Given the description of an element on the screen output the (x, y) to click on. 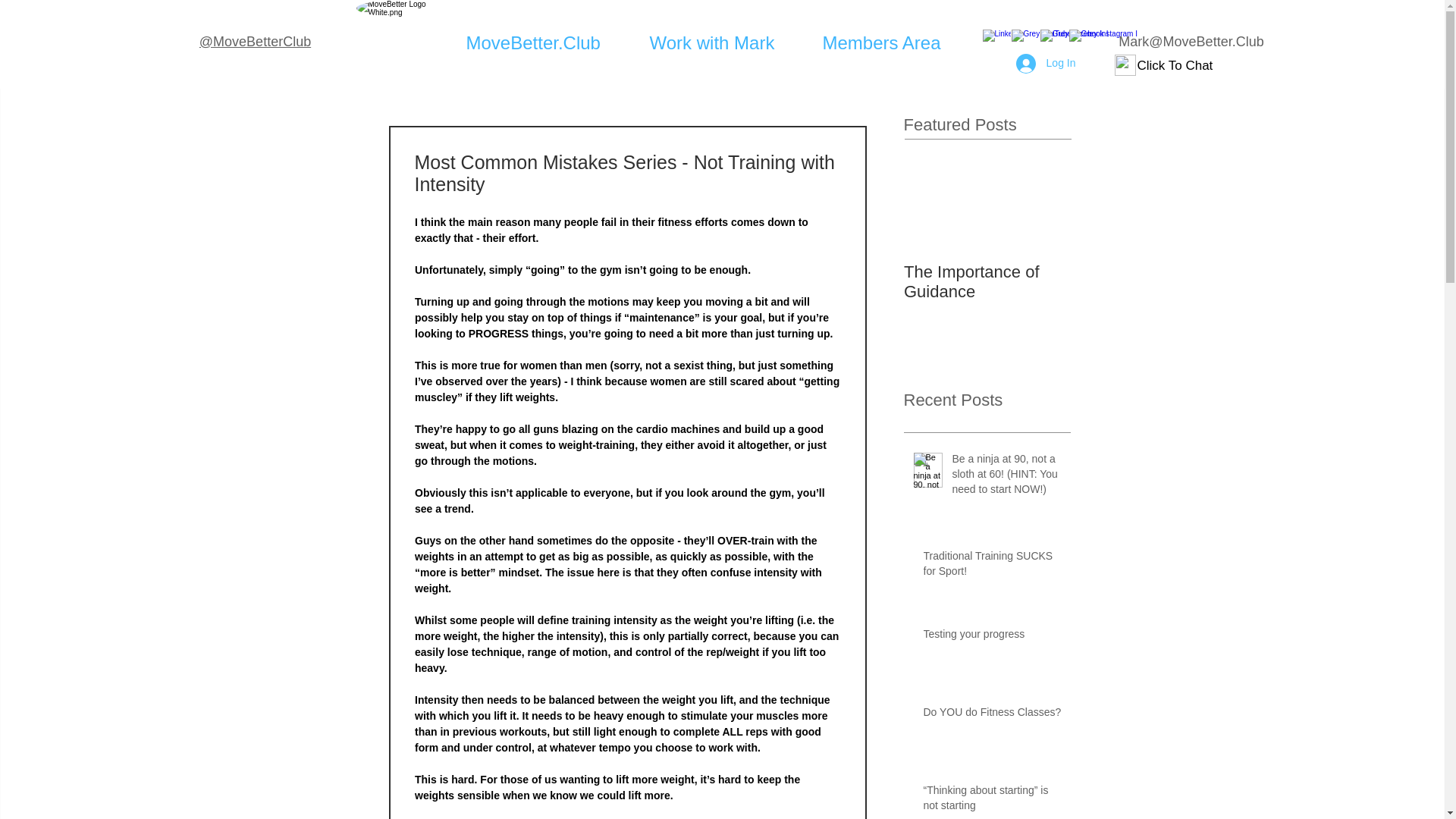
Log In (1046, 63)
Members Area (893, 42)
The Importance of Guidance (987, 282)
MoveBetter.Club (546, 42)
Work with Mark (724, 42)
Click To Chat (1174, 65)
